Given the description of an element on the screen output the (x, y) to click on. 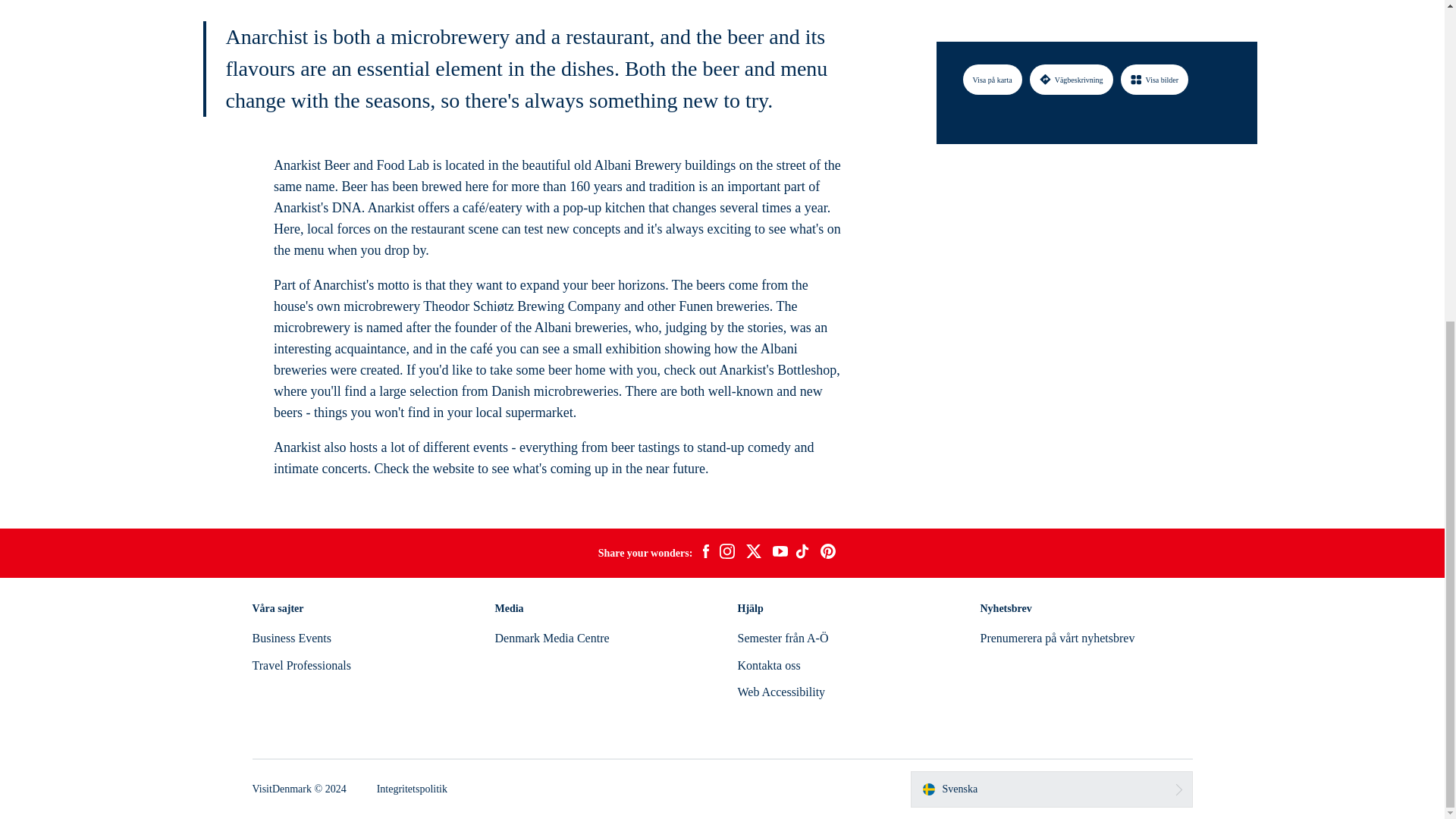
Business Events (290, 637)
Business Events (290, 637)
Travel Professionals (300, 665)
Integritetspolitik (411, 789)
Denmark Media Centre (551, 637)
Integritetspolitik (411, 789)
Web Accessibility (780, 691)
Kontakta oss (767, 665)
Kontakta oss (767, 665)
twitter (753, 553)
